Given the description of an element on the screen output the (x, y) to click on. 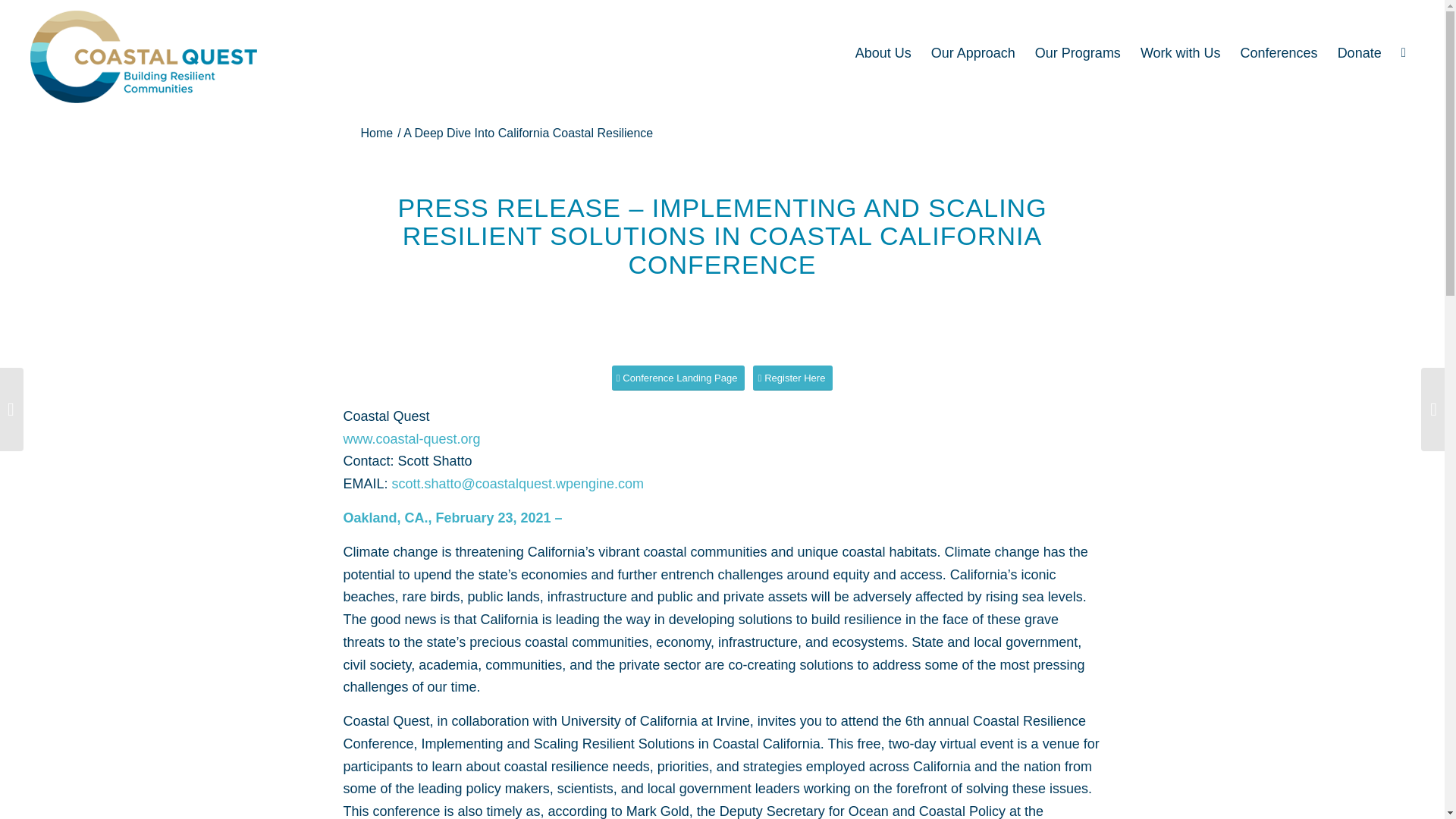
Home (376, 132)
www.coastal-quest.org (411, 438)
Conference Landing Page (678, 377)
About Us (883, 53)
Our Approach (973, 53)
Register Here (792, 377)
Conferences (1278, 53)
Work with Us (1180, 53)
Our Programs (1078, 53)
Coastal Quest (376, 132)
Donate (1359, 53)
